Given the description of an element on the screen output the (x, y) to click on. 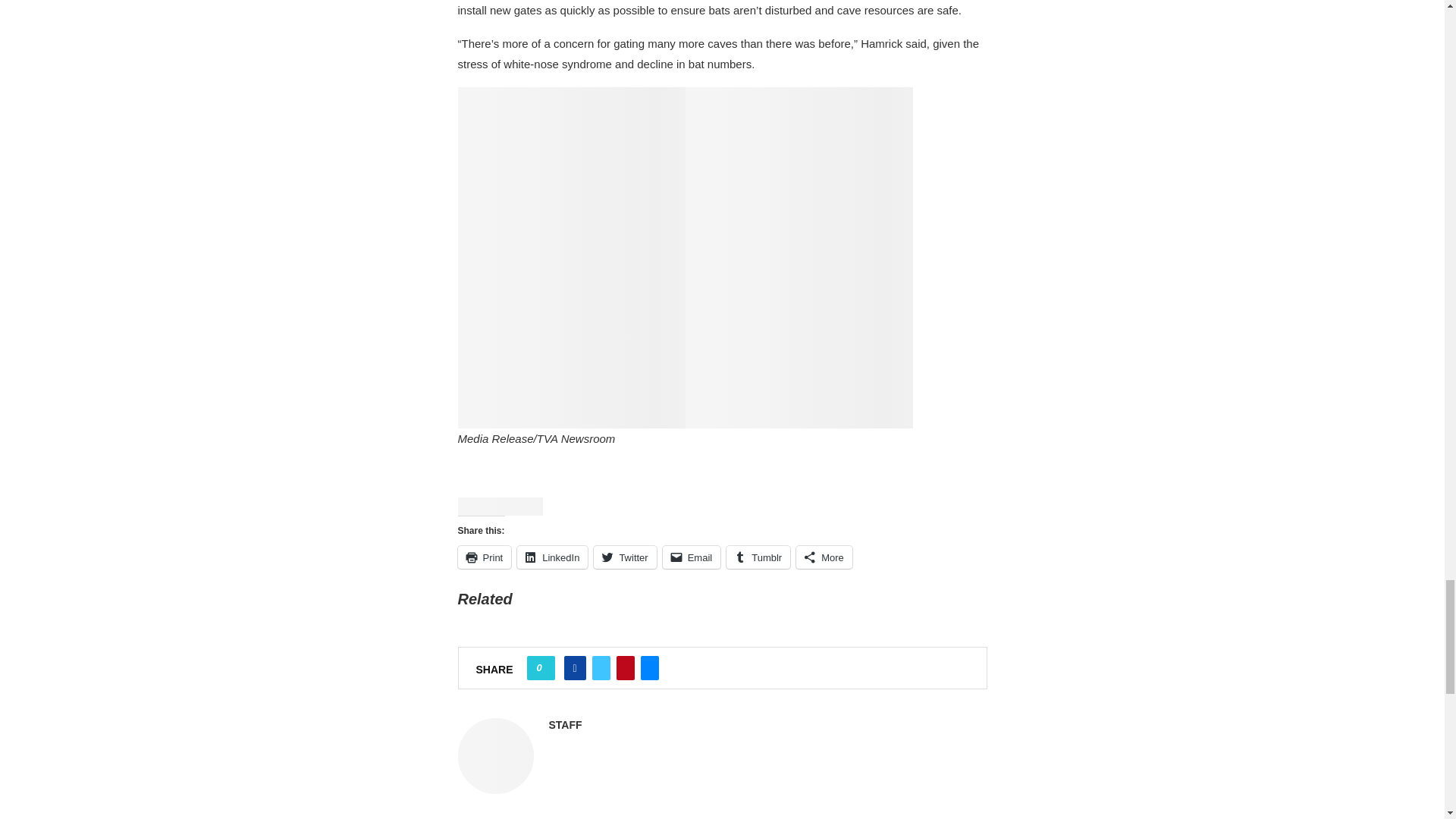
Click to print (485, 557)
Click to share on Twitter (625, 557)
Click to email a link to a friend (691, 557)
Twitter (625, 557)
Print (485, 557)
bat-survey-crew (571, 143)
Email (691, 557)
LinkedIn (552, 557)
tva-zoologist-s (571, 371)
More (823, 557)
Tumblr (758, 557)
tva-terrestrial-zoologist-laura-vining-and-biologist-liz (798, 371)
laura-vining (798, 257)
biologist-tallying-the-bat-species (571, 257)
Click to share on Tumblr (758, 557)
